Given the description of an element on the screen output the (x, y) to click on. 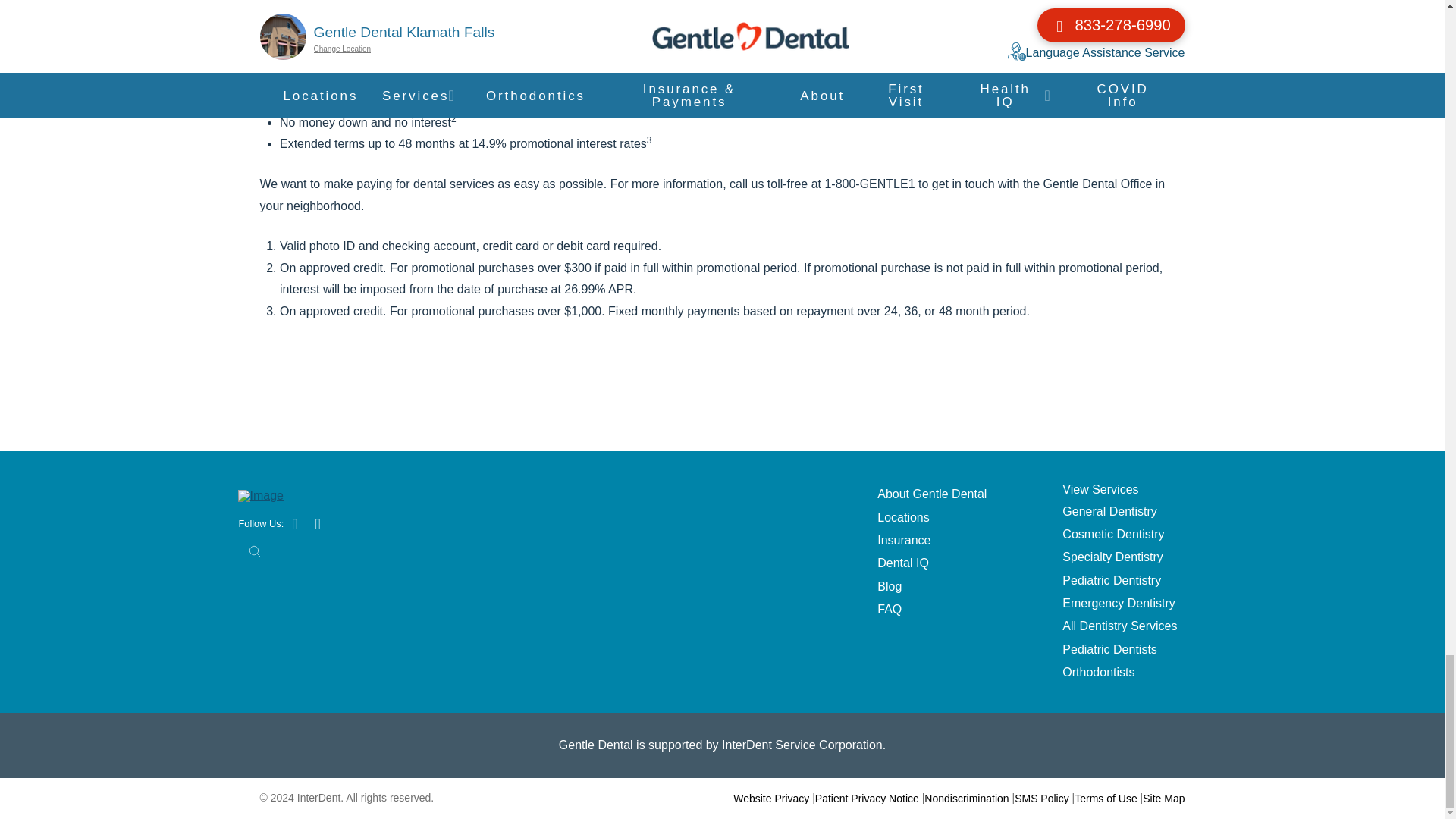
Submit (254, 551)
